Given the description of an element on the screen output the (x, y) to click on. 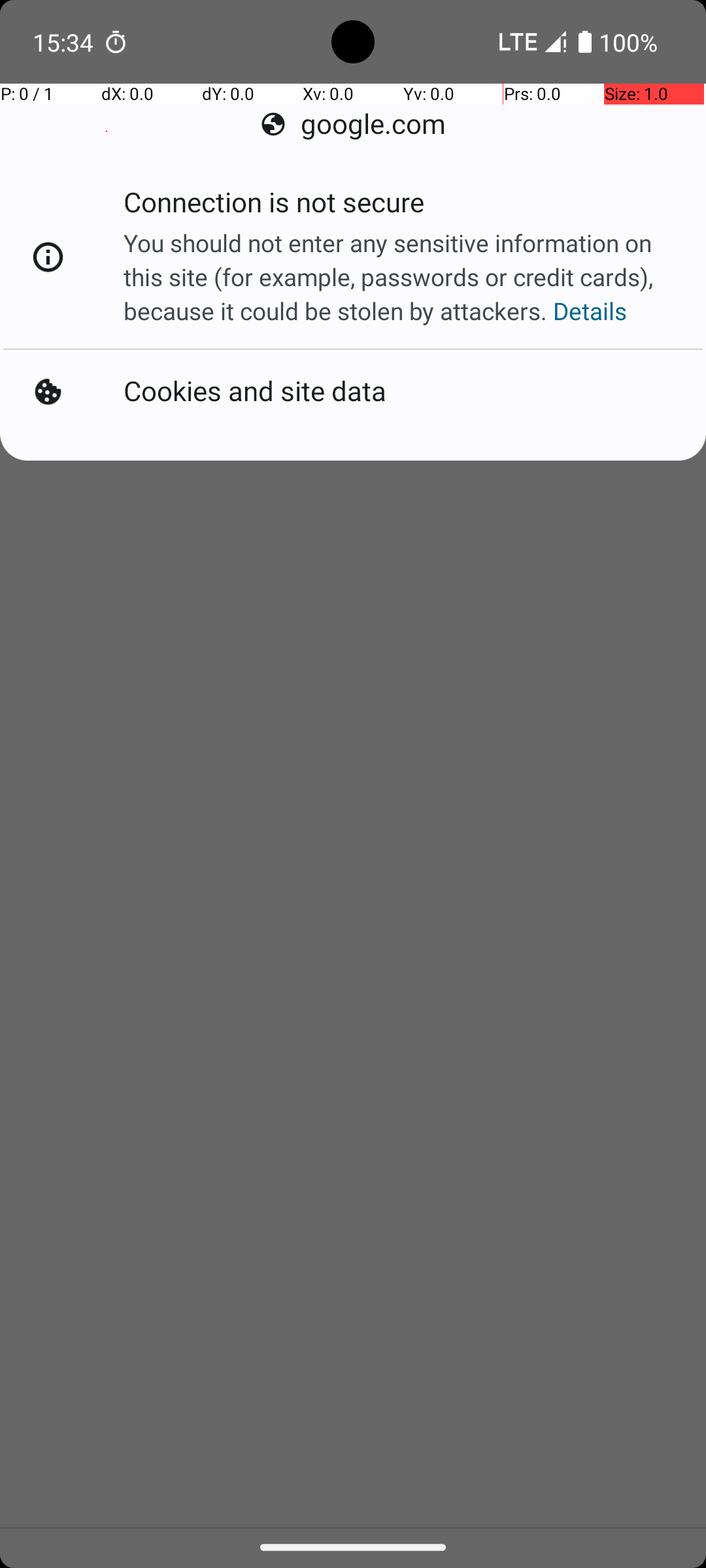
You should not enter any sensitive information on this site (for example, passwords or credit cards), because it could be stolen by attackers. Details Element type: android.widget.TextView (400, 276)
Cookies and site data Element type: android.widget.TextView (254, 391)
